Given the description of an element on the screen output the (x, y) to click on. 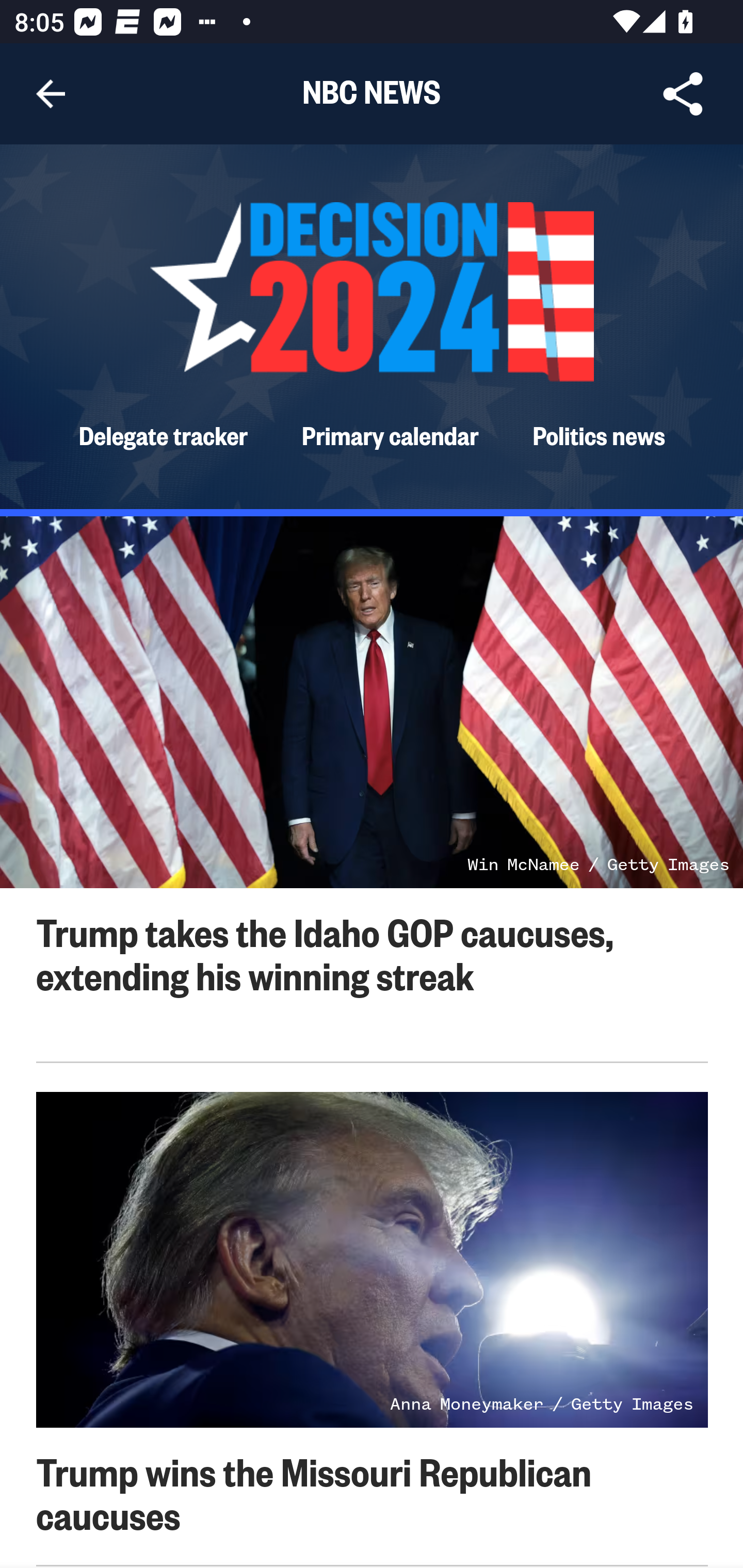
Navigate up (50, 93)
Share Article, button (683, 94)
Delegate tracker (162, 434)
Primary calendar (390, 434)
Politics news (598, 434)
Trump wins the Missouri Republican caucuses (314, 1491)
